Given the description of an element on the screen output the (x, y) to click on. 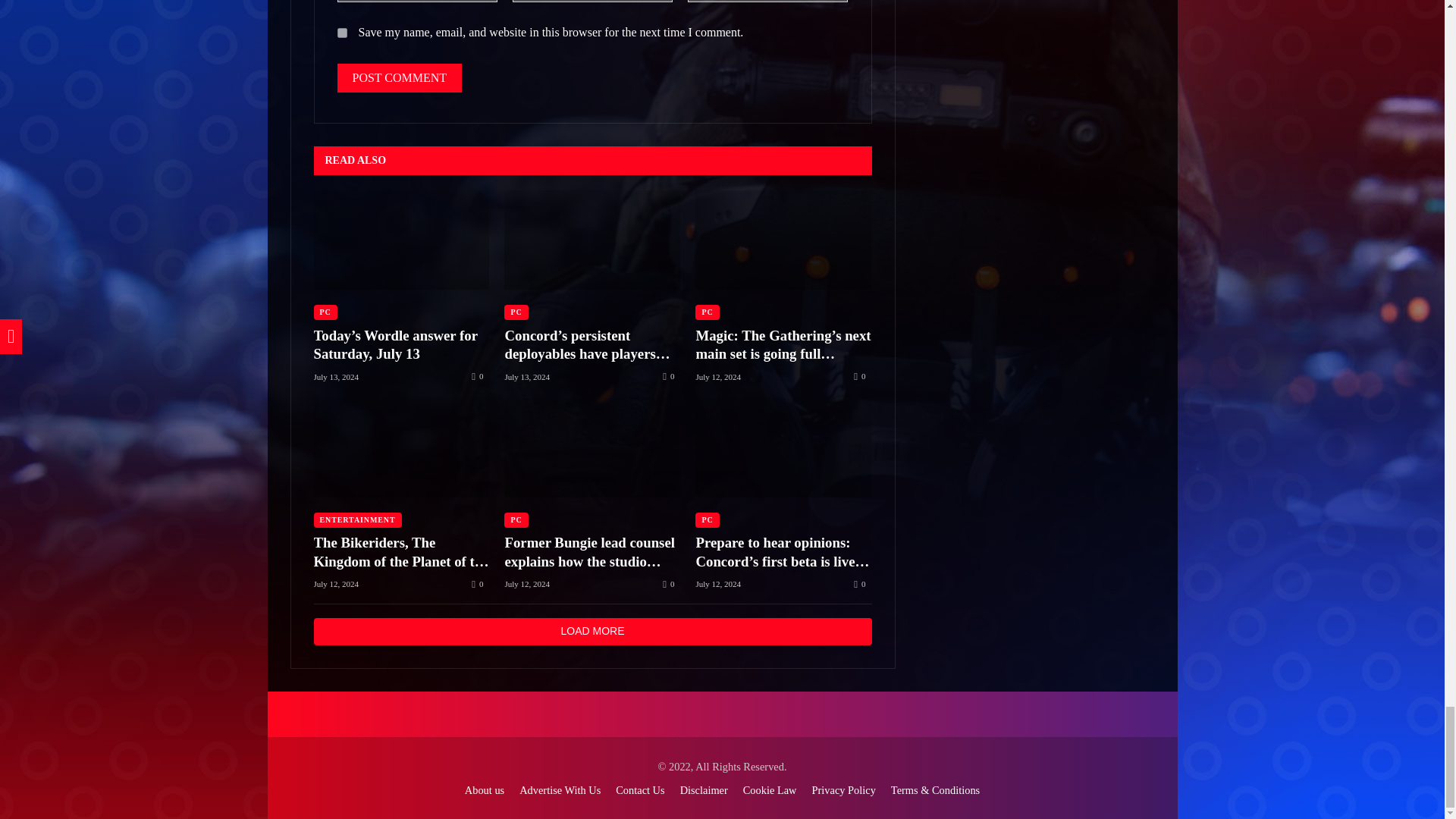
Post Comment (398, 77)
yes (341, 32)
